Given the description of an element on the screen output the (x, y) to click on. 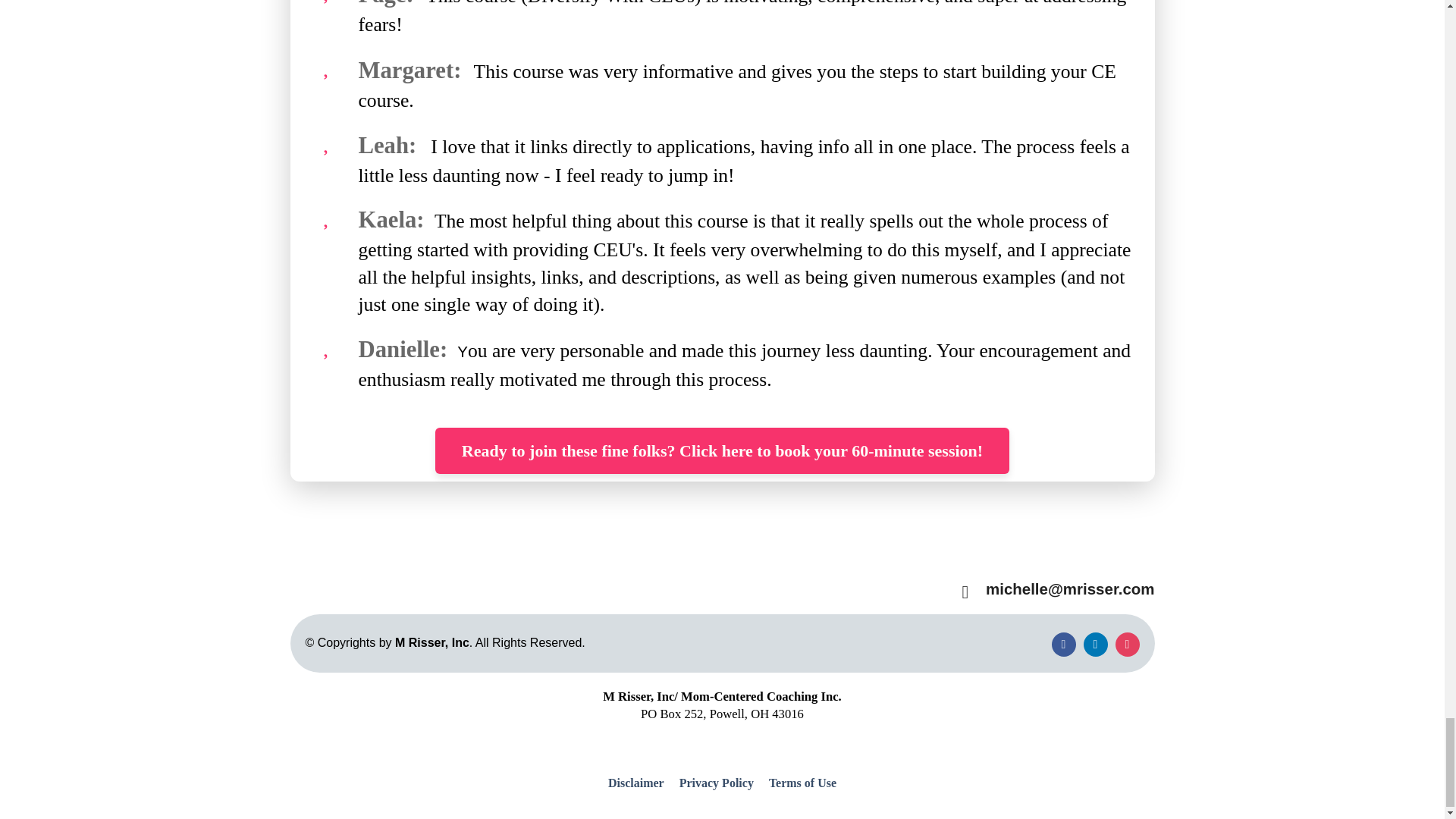
Terms of Use (798, 783)
Privacy Policy (716, 783)
Disclaimer (639, 783)
